Given the description of an element on the screen output the (x, y) to click on. 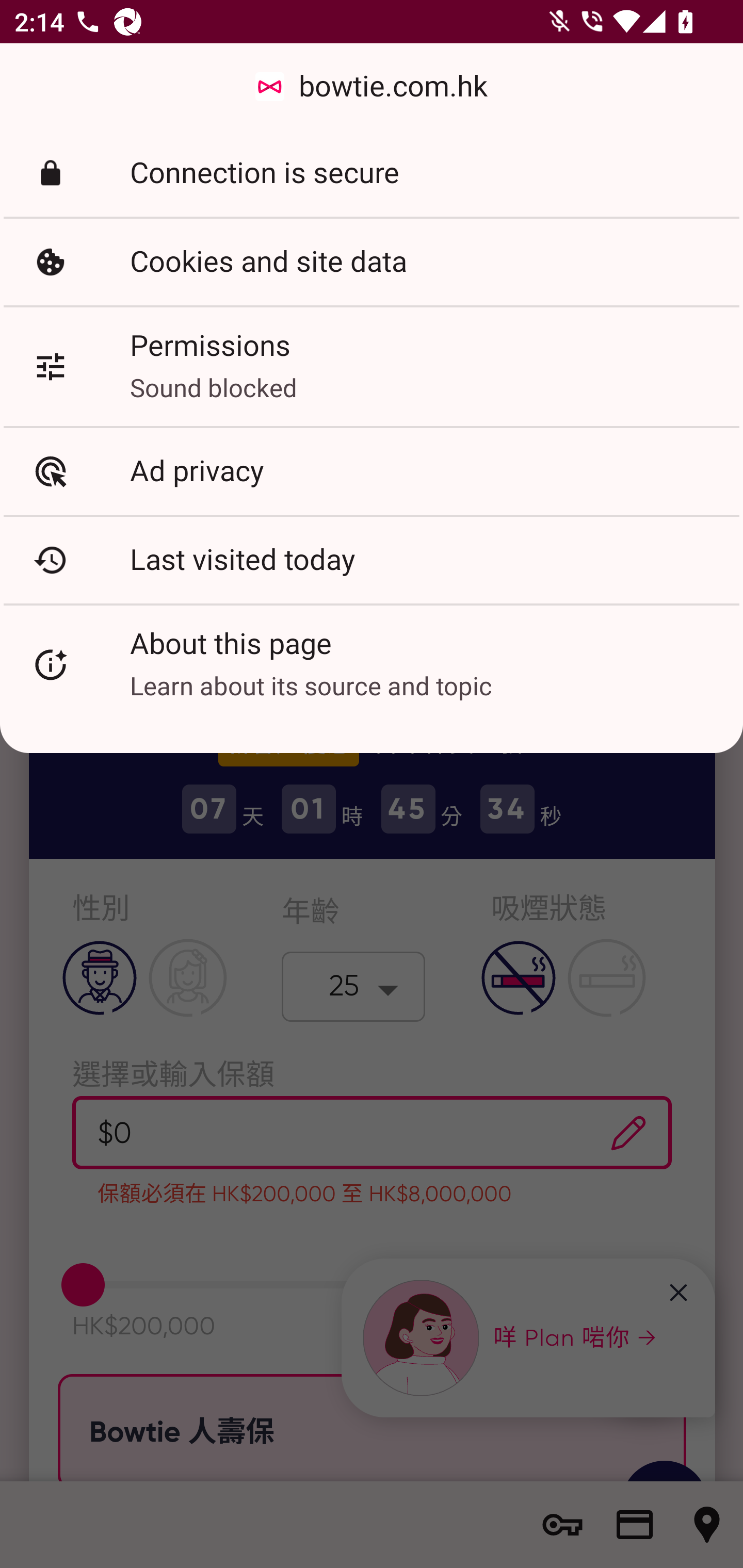
bowtie.com.hk (371, 86)
Connection is secure (371, 173)
Cookies and site data (371, 261)
Permissions Sound blocked (371, 366)
Ad privacy (371, 471)
Last visited today (371, 560)
About this page Learn about its source and topic (371, 664)
